Given the description of an element on the screen output the (x, y) to click on. 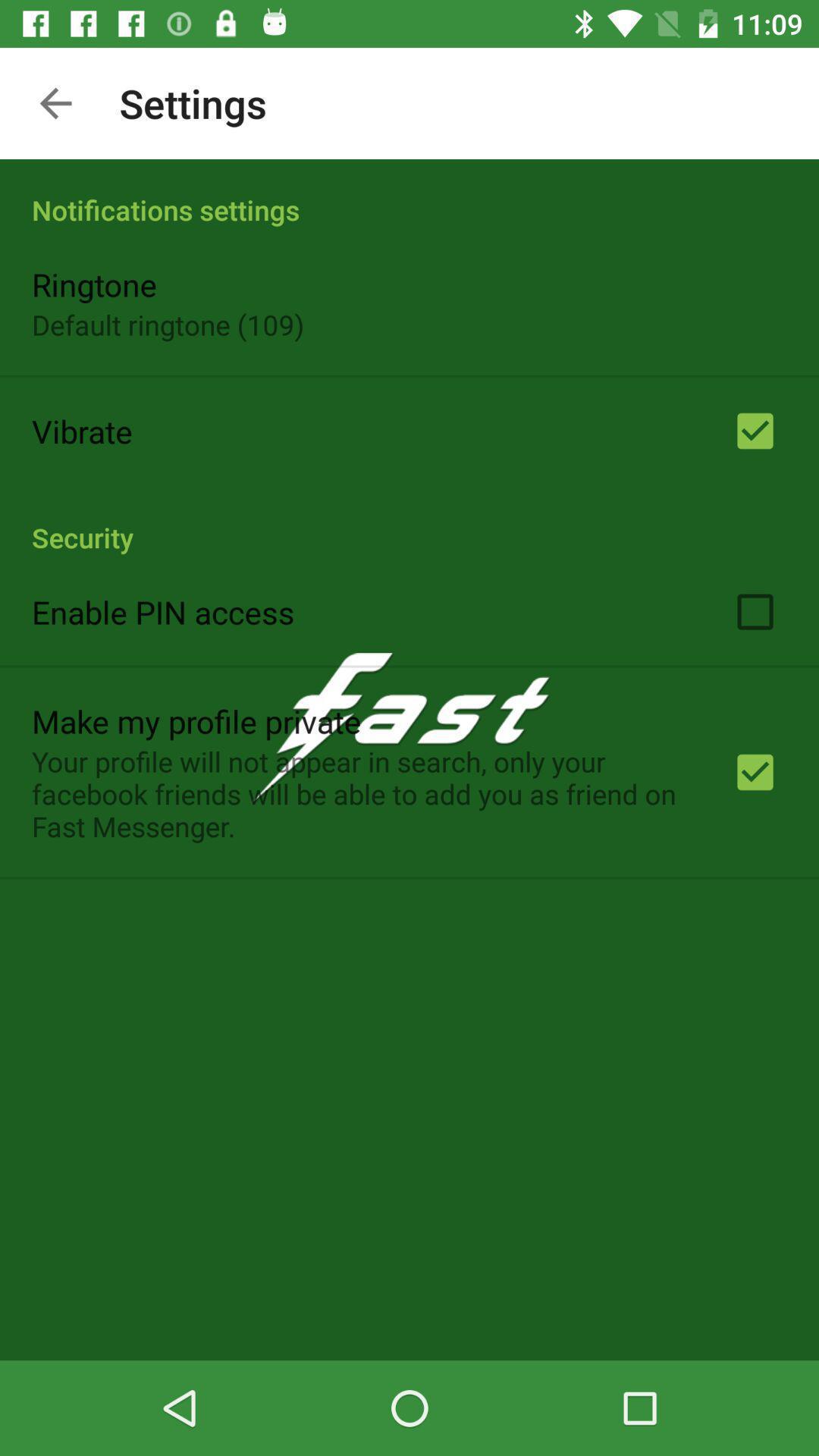
click icon to the left of settings app (55, 103)
